Given the description of an element on the screen output the (x, y) to click on. 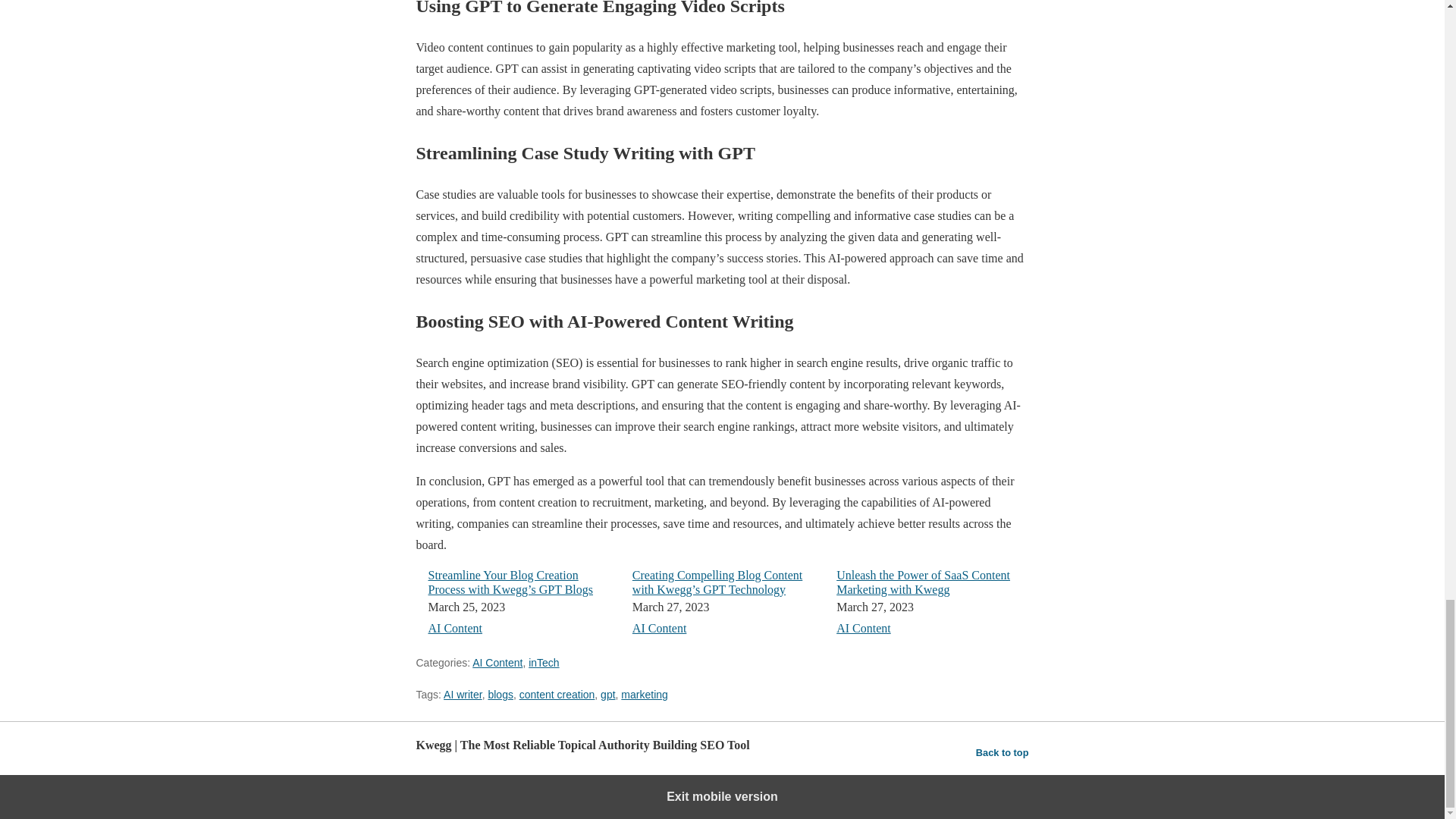
marketing (643, 694)
AI writer (462, 694)
AI Content (659, 627)
Back to top (1002, 752)
gpt (606, 694)
inTech (543, 662)
AI Content (863, 627)
Unleash the Power of SaaS Content Marketing with Kwegg (922, 582)
AI Content (496, 662)
blogs (499, 694)
content creation (557, 694)
AI Content (454, 627)
